Given the description of an element on the screen output the (x, y) to click on. 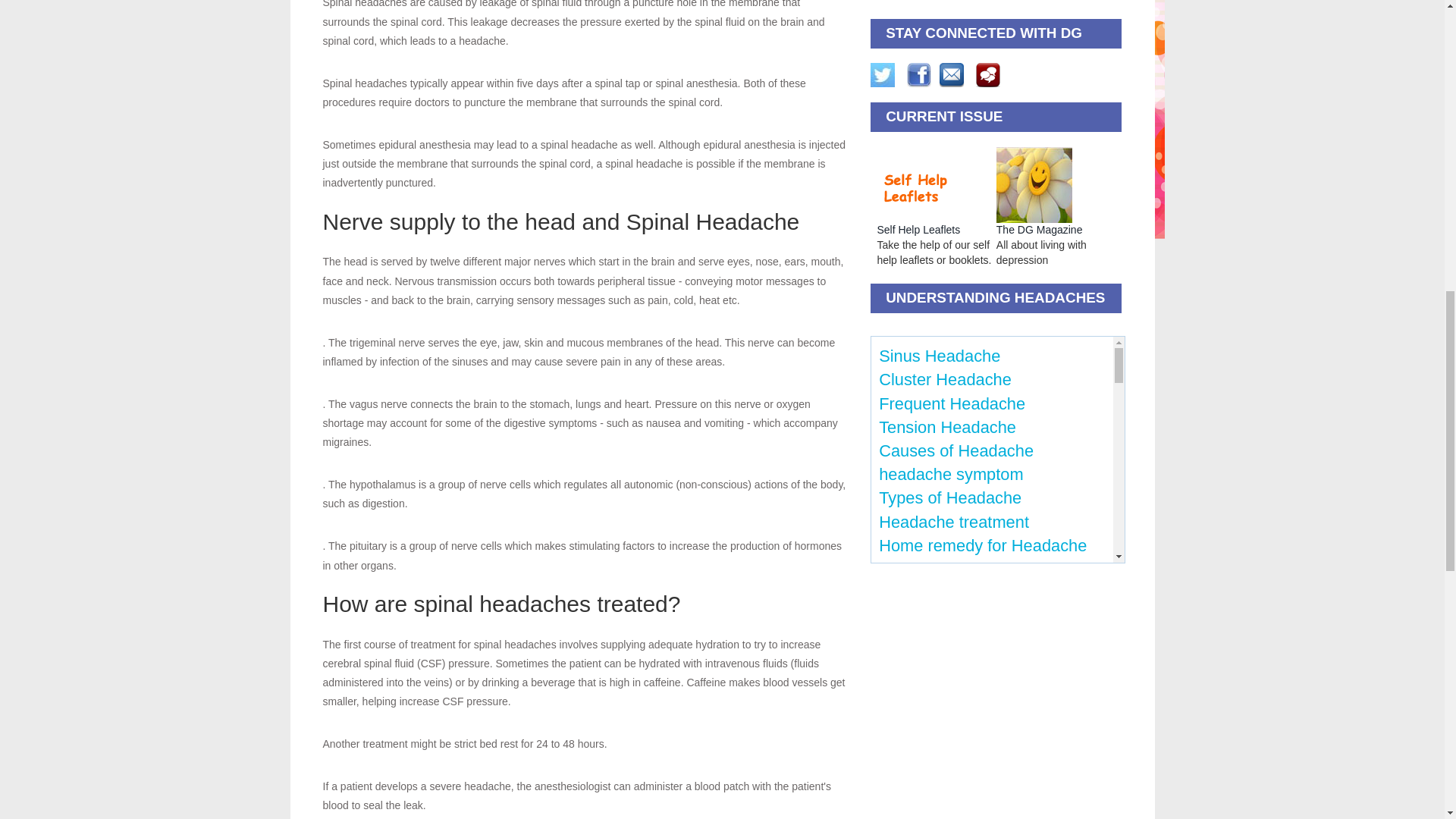
Advertisement (997, 2)
